Given the description of an element on the screen output the (x, y) to click on. 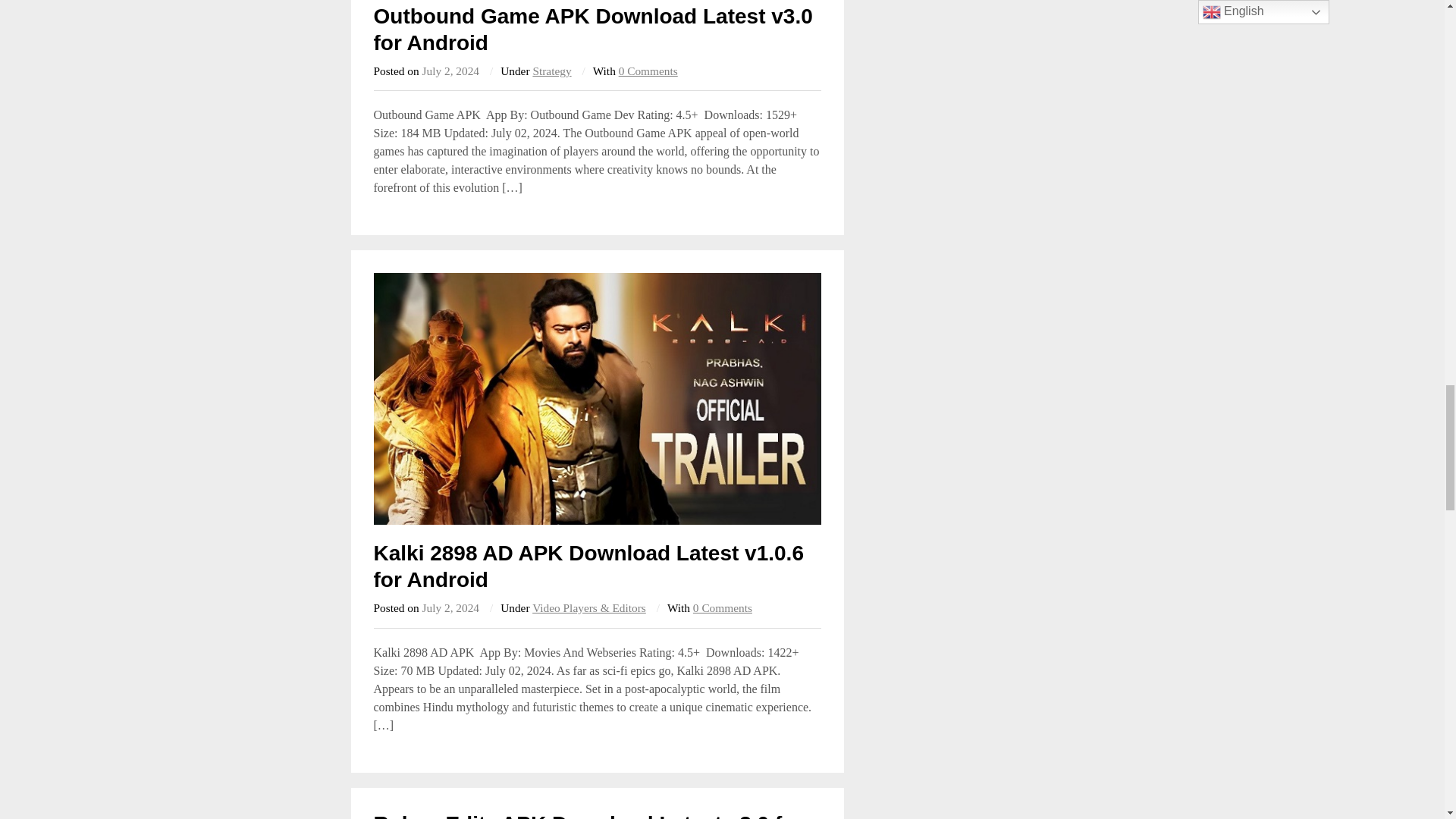
Outbound Game APK Download Latest v3.0 for Android (592, 29)
Kalki 2898 AD APK Download Latest v1.0.6 for Android (587, 566)
Strategy (551, 70)
Rohan Editz APK Download Latest v3.0 for Android (587, 815)
Outbound Game APK Download Latest v3.0 for Android (592, 29)
Strategy (551, 70)
Kalki 2898 AD APK Download Latest v1.0.6 for Android (587, 566)
0 Comments (648, 70)
Kalki 2898 AD APK Download Latest v1.0.6 for Android (596, 398)
0 Comments (722, 607)
